Given the description of an element on the screen output the (x, y) to click on. 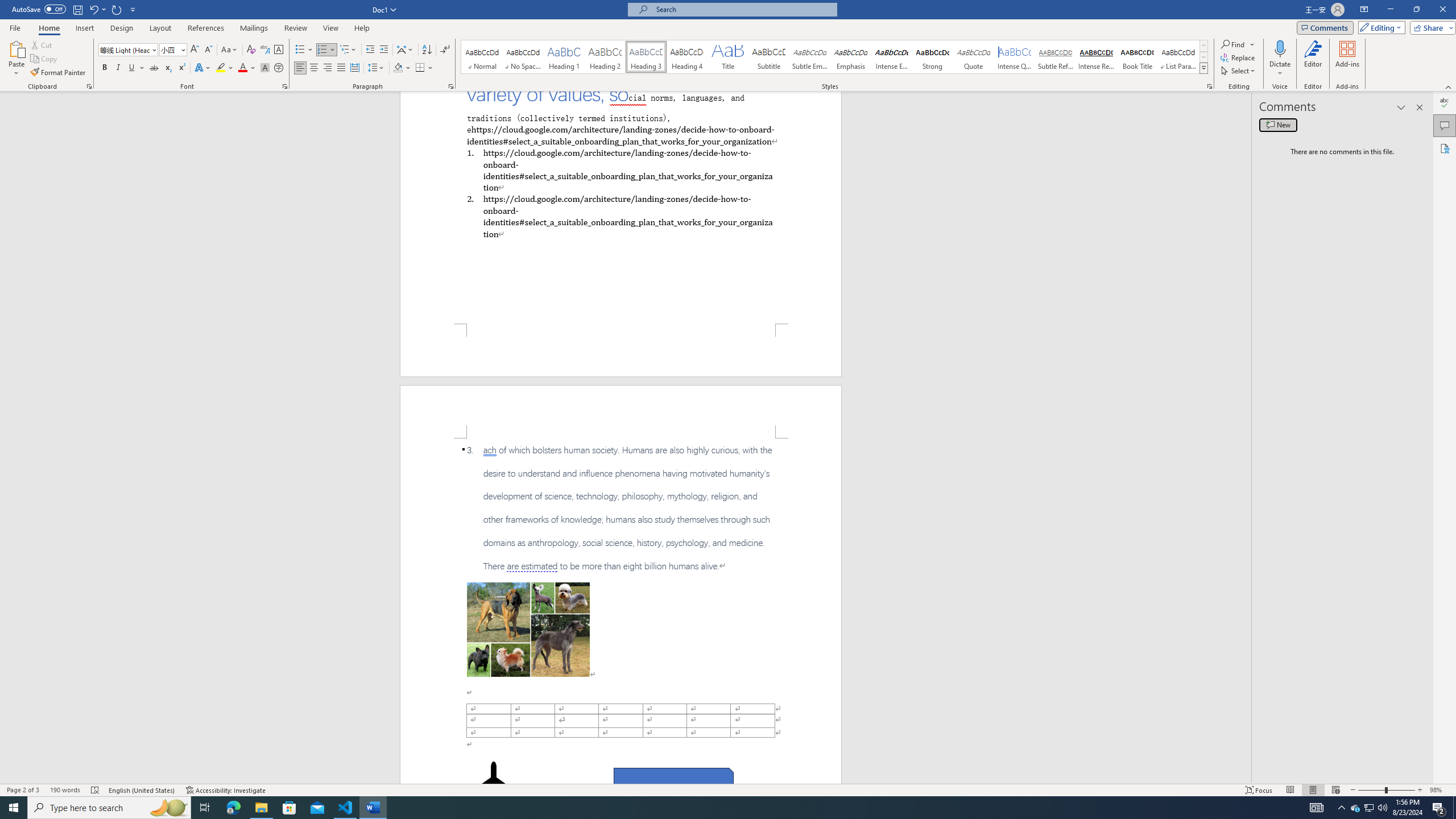
Header -Section 1- (620, 411)
Shading (402, 67)
Text Effects and Typography (202, 67)
Asian Layout (405, 49)
Title (727, 56)
New comment (1278, 124)
Row up (1203, 45)
Sort... (426, 49)
Editor (1444, 102)
